Given the description of an element on the screen output the (x, y) to click on. 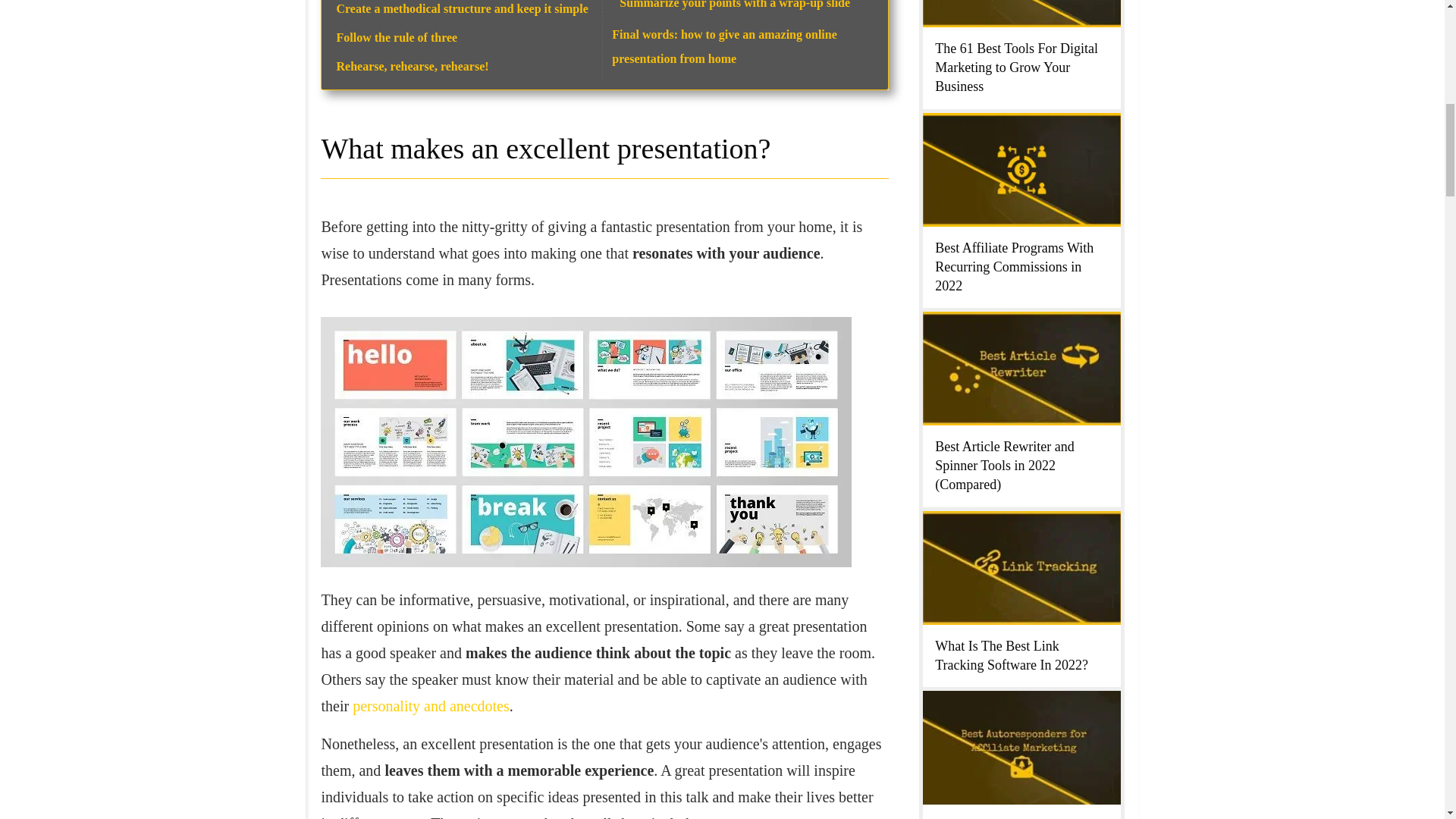
presentation (585, 441)
Summarize your points with a wrap-up slide (735, 4)
personality and anecdotes (430, 705)
Create a methodical structure and keep it simple (462, 8)
Best Affiliate Programs With Recurring Commissions in 2022 (1013, 265)
What Is The Best Link Tracking Software In 2022? (1010, 655)
Follow the rule of three (397, 37)
Rehearse, rehearse, rehearse! (412, 65)
